Given the description of an element on the screen output the (x, y) to click on. 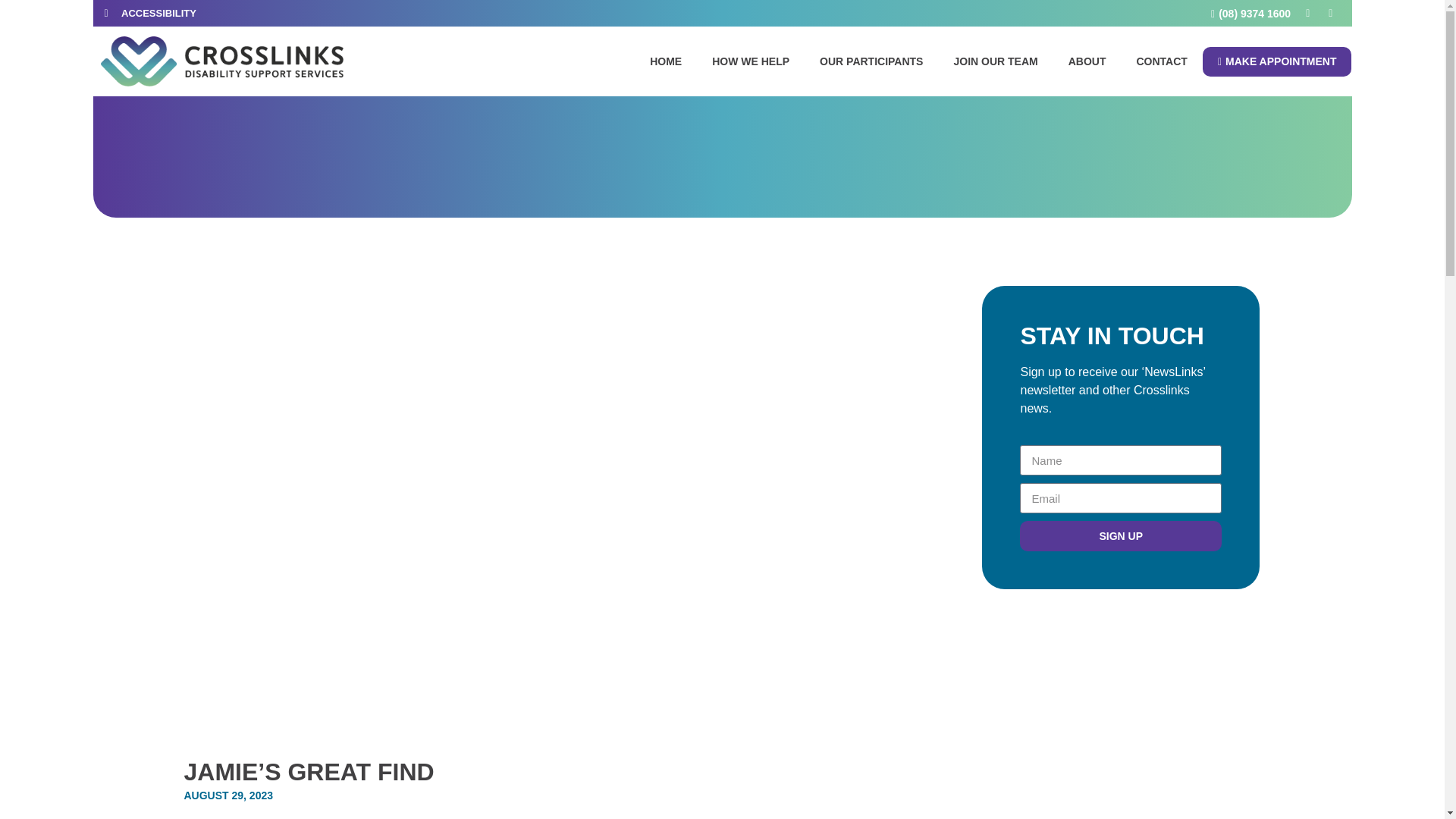
HOW WE HELP (751, 61)
HOME (665, 61)
JOIN OUR TEAM (994, 61)
OUR PARTICIPANTS (871, 61)
CONTACT (1161, 61)
ABOUT (1086, 61)
